Given the description of an element on the screen output the (x, y) to click on. 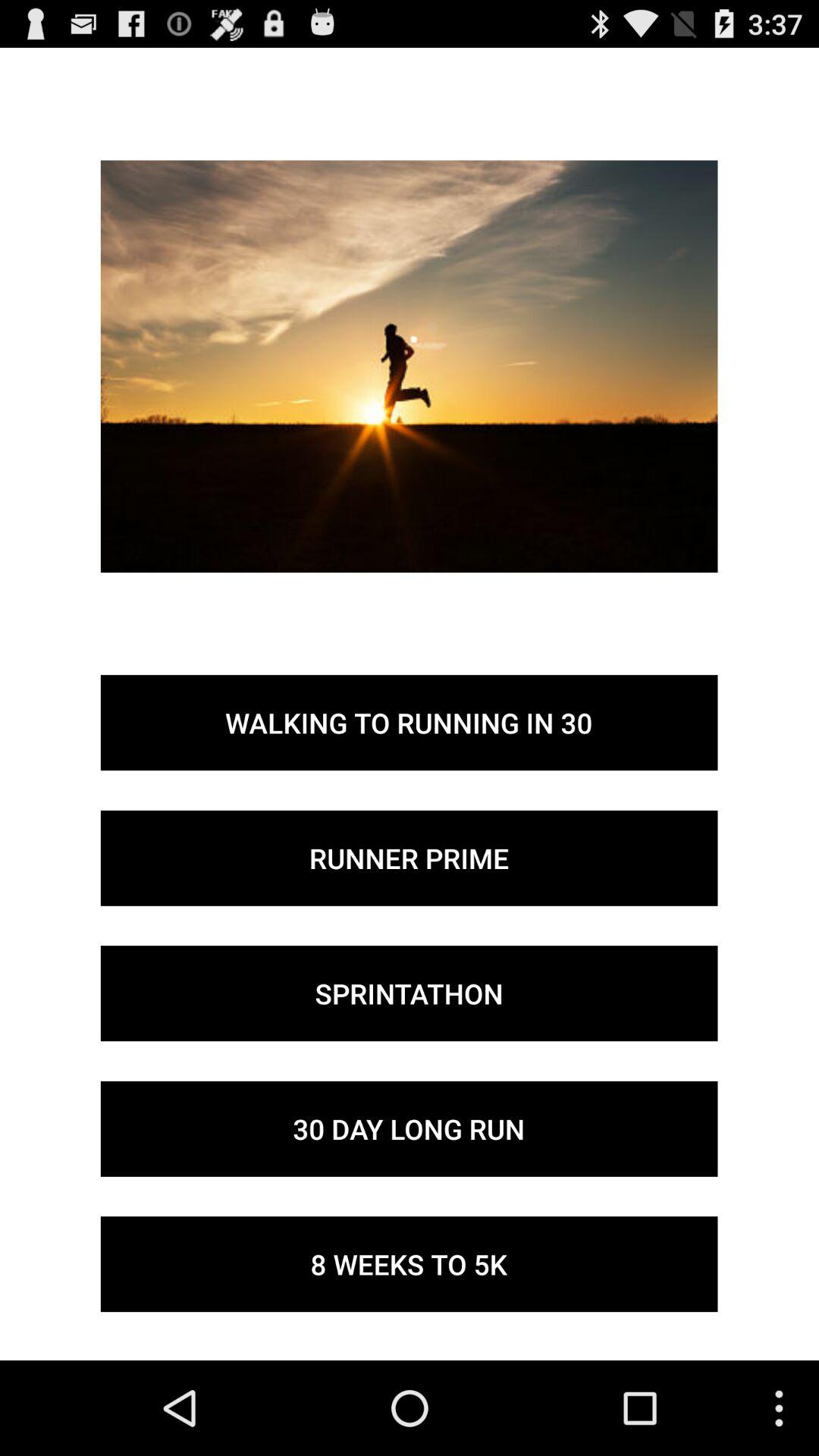
choose the button below the walking to running button (408, 858)
